Given the description of an element on the screen output the (x, y) to click on. 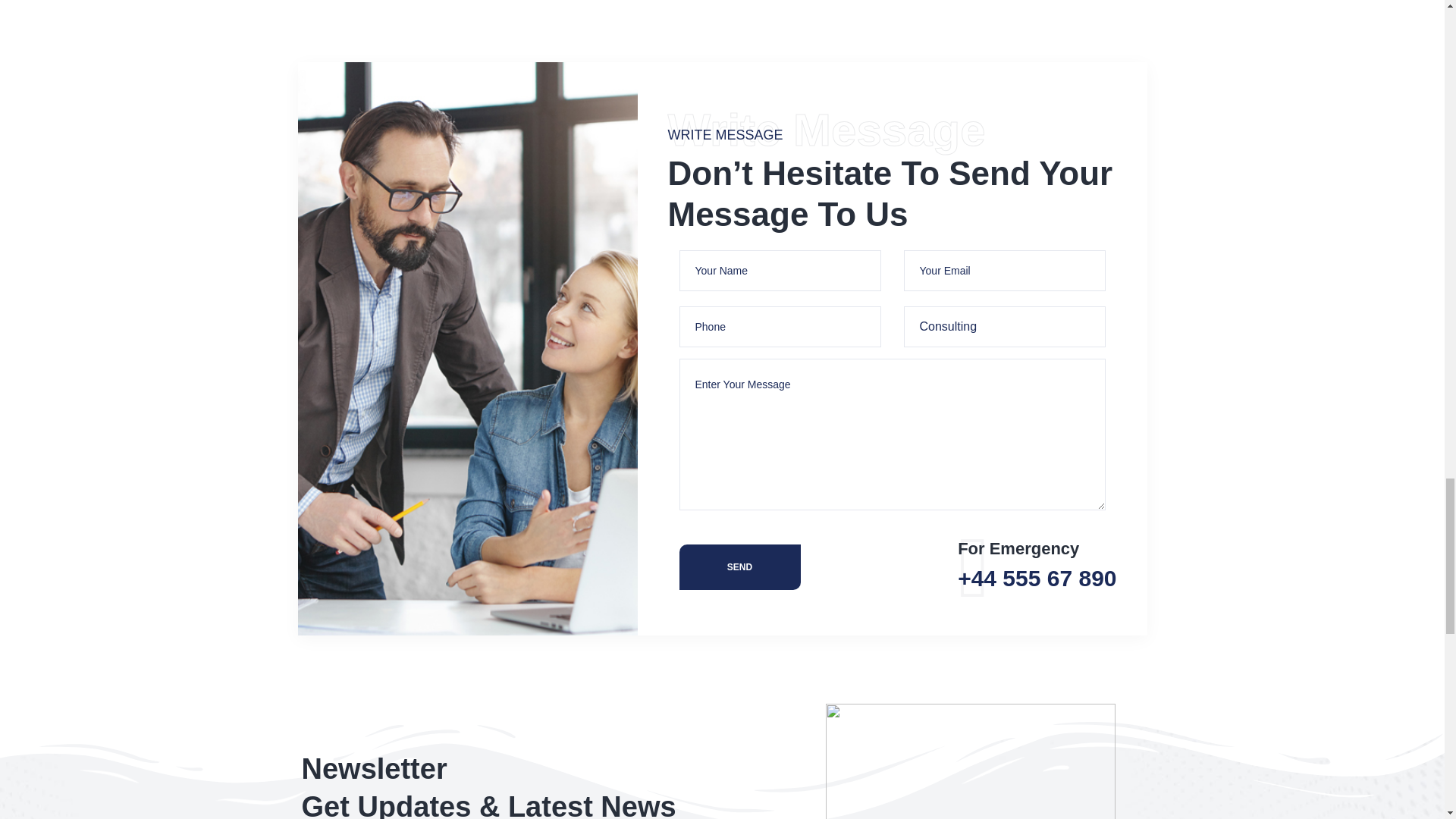
Send (739, 566)
Send (739, 566)
